Given the description of an element on the screen output the (x, y) to click on. 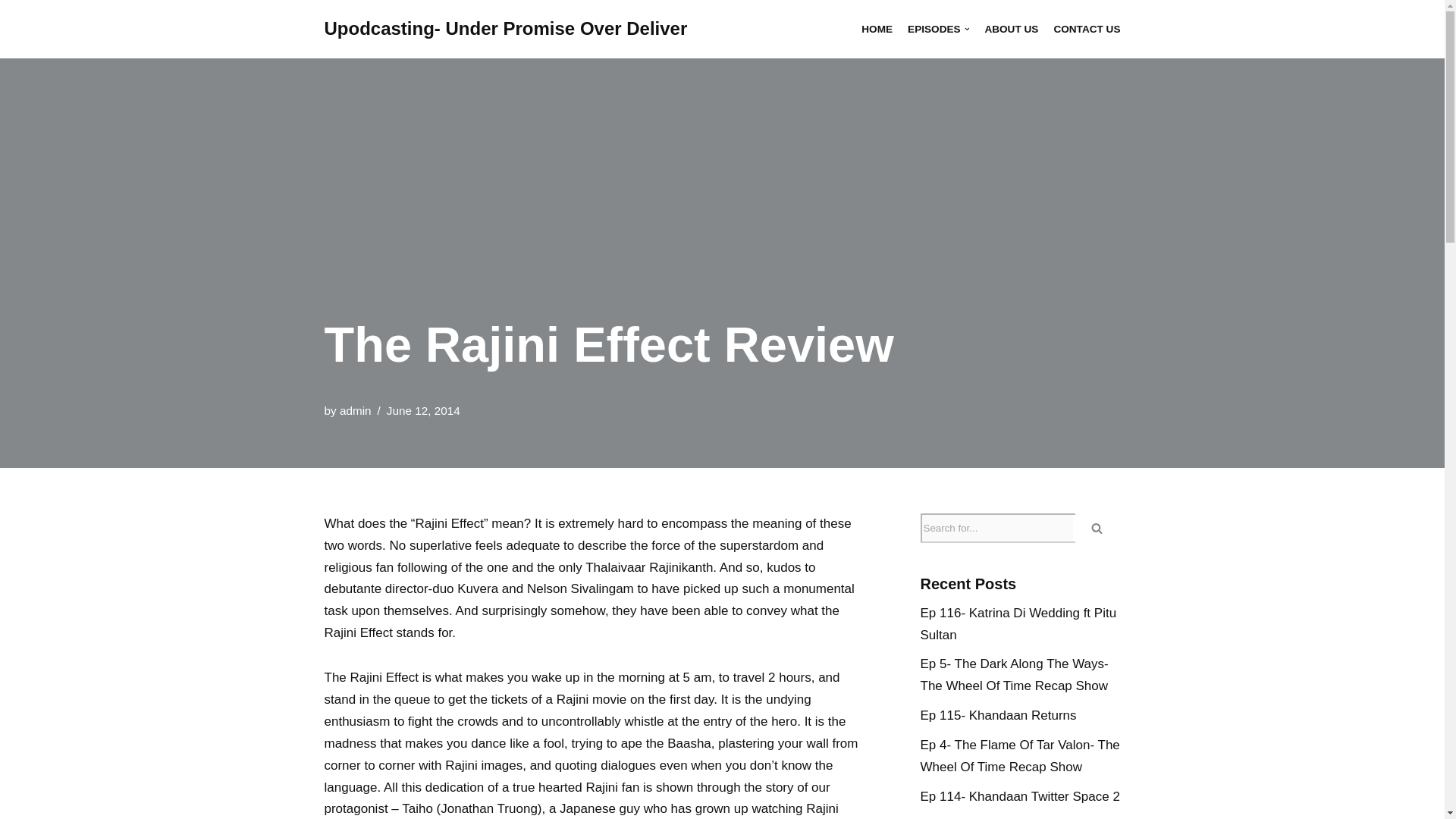
Upodcasting- Under Promise Over Deliver (505, 29)
Upodcasting- Under Promise Over Deliver (505, 29)
ABOUT US (1011, 28)
Ep 116- Katrina Di Wedding ft Pitu Sultan (1018, 624)
CONTACT US (1085, 28)
Skip to content (11, 31)
admin (355, 410)
EPISODES (938, 28)
HOME (876, 28)
Ep 5- The Dark Along The Ways- The Wheel Of Time Recap Show (1014, 674)
Ep 115- Khandaan Returns (998, 715)
Posts by admin (355, 410)
